Given the description of an element on the screen output the (x, y) to click on. 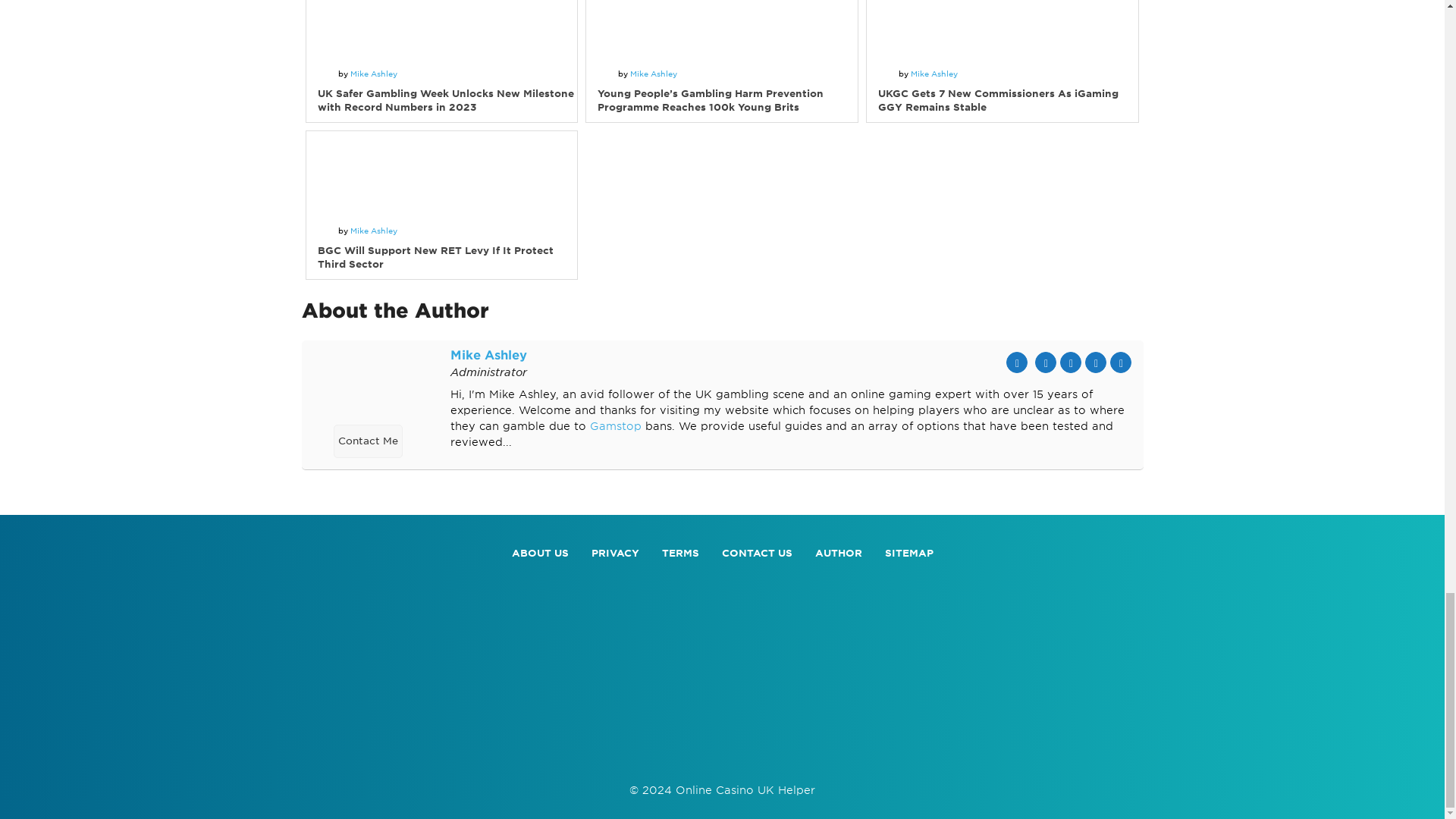
begambleaware (721, 752)
GamCare (961, 752)
